Given the description of an element on the screen output the (x, y) to click on. 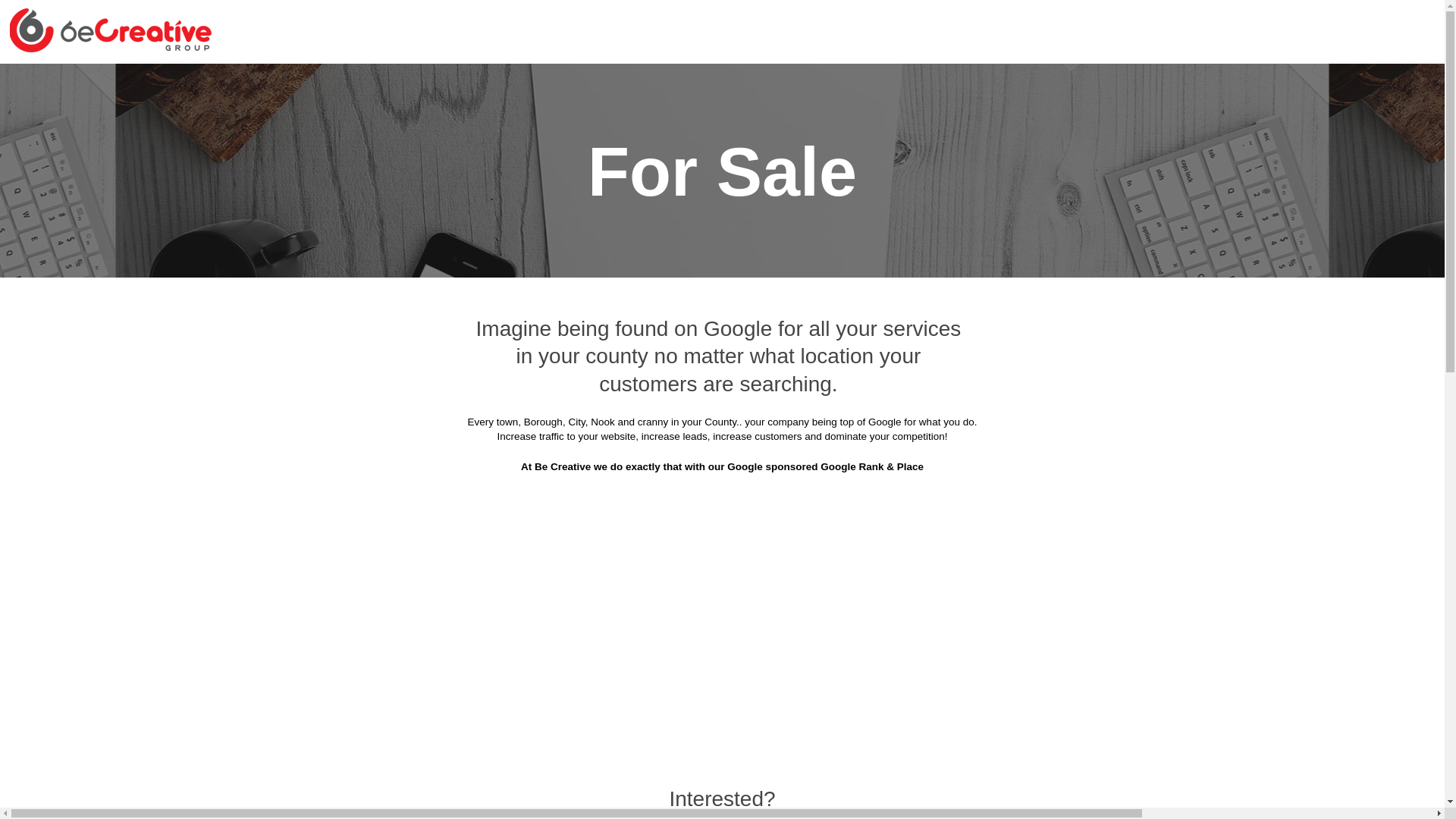
Aggregate Suppliers Chudleigh Devon (622, 234)
Aggregate Suppliers Buckfastleigh Devon (860, 158)
Aggregate Suppliers Cornwall (488, 83)
Aggregate Suppliers Barnstaple Devon (395, 121)
Aggregate Suppliers Honiton Devon (405, 383)
Aggregate Suppliers Callington Cornwall (834, 196)
Aggregate Suppliers Camborne Cornwall (1072, 196)
Aggregate Suppliers Budleigh Salterton Devon (582, 196)
Aggregate Suppliers Brixham Devon (632, 158)
Aggregate Suppliers Devon (660, 83)
Aggregate Suppliers Exeter Devon (870, 271)
Aggregate Suppliers Axminster Devon (1080, 83)
Aggregate Suppliers Bovey Tracey Devon (1070, 121)
Aggregate Suppliers Ashburton Devon (855, 83)
Aggregate Suppliers Falmouth Cornwall (600, 309)
